Given the description of an element on the screen output the (x, y) to click on. 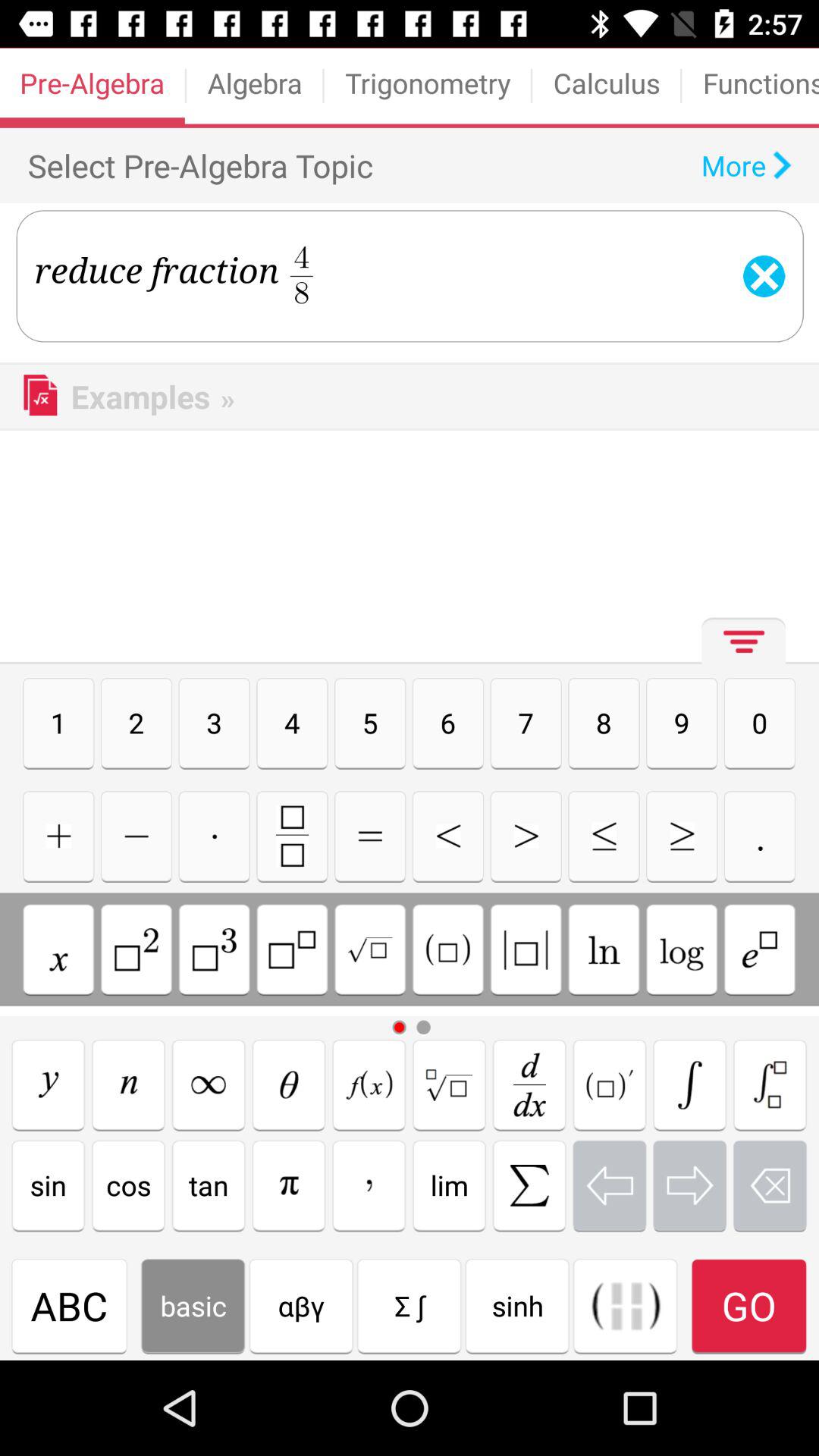
menu (739, 647)
